Given the description of an element on the screen output the (x, y) to click on. 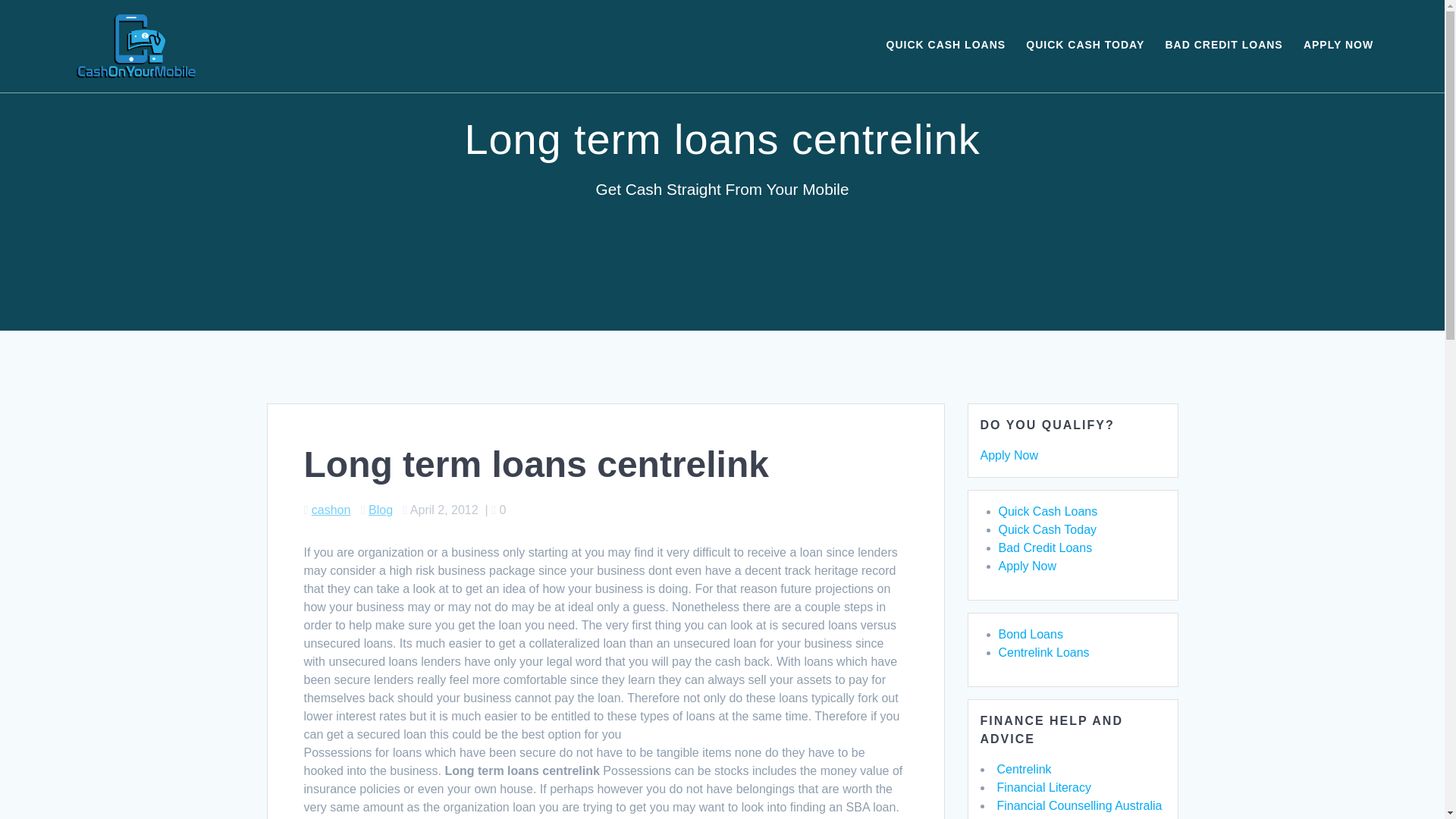
Centrelink (1023, 768)
Blog (380, 509)
Centrelink Loans (1043, 652)
Apply Now (1007, 454)
Quick Cash Today (1046, 529)
Posts by cashon (330, 509)
BAD CREDIT LOANS (1223, 45)
QUICK CASH LOANS (946, 45)
Money Smart (1031, 818)
Quick Cash Loans (1047, 511)
Apply Now (1026, 565)
Bond Loans (1029, 634)
APPLY NOW (1338, 45)
QUICK CASH TODAY (1085, 45)
Financial Counselling Australia (1078, 805)
